Given the description of an element on the screen output the (x, y) to click on. 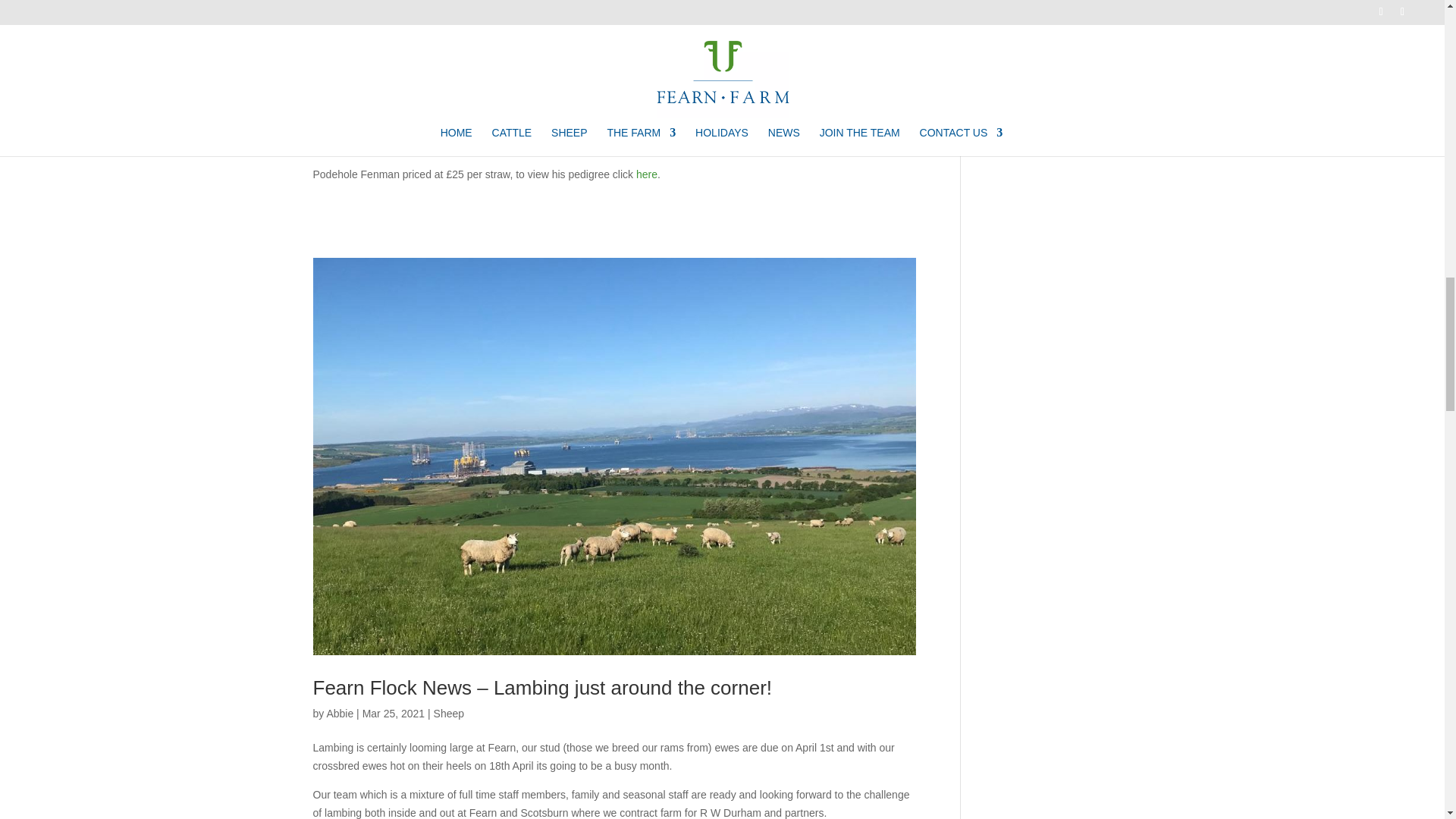
Posts by Abbie (339, 713)
here (562, 41)
